Given the description of an element on the screen output the (x, y) to click on. 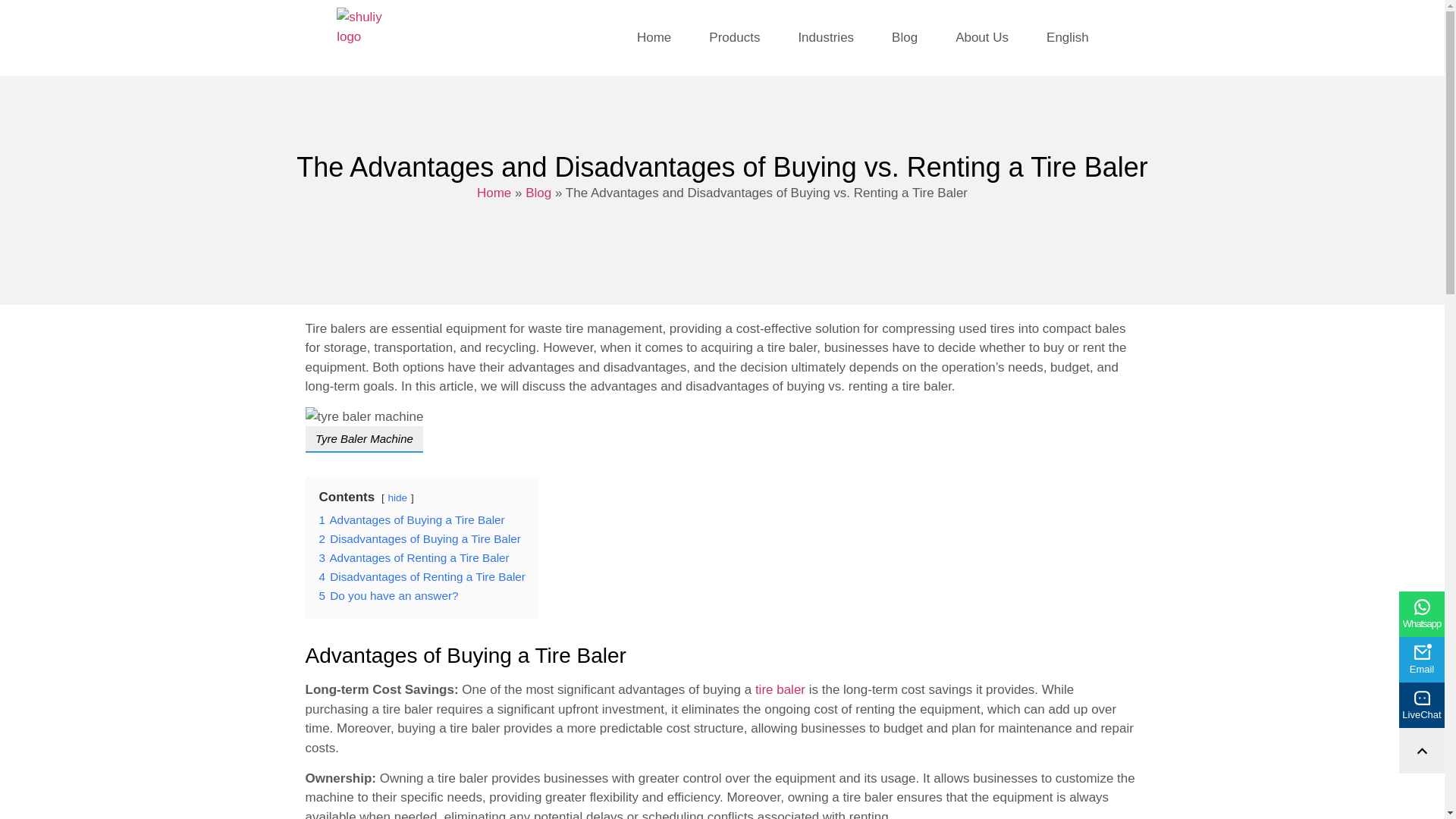
About Us (981, 37)
Blog (904, 37)
5 Do you have an answer? (388, 594)
4 Disadvantages of Renting a Tire Baler (421, 576)
Industries (825, 37)
Products (734, 37)
tire baler (780, 689)
2 Disadvantages of Buying a Tire Baler (418, 538)
3 Advantages of Renting a Tire Baler (413, 557)
hide (397, 497)
shuliy logo (366, 37)
English (1067, 37)
Home (653, 37)
1 Advantages of Buying a Tire Baler (410, 519)
Home (494, 192)
